Given the description of an element on the screen output the (x, y) to click on. 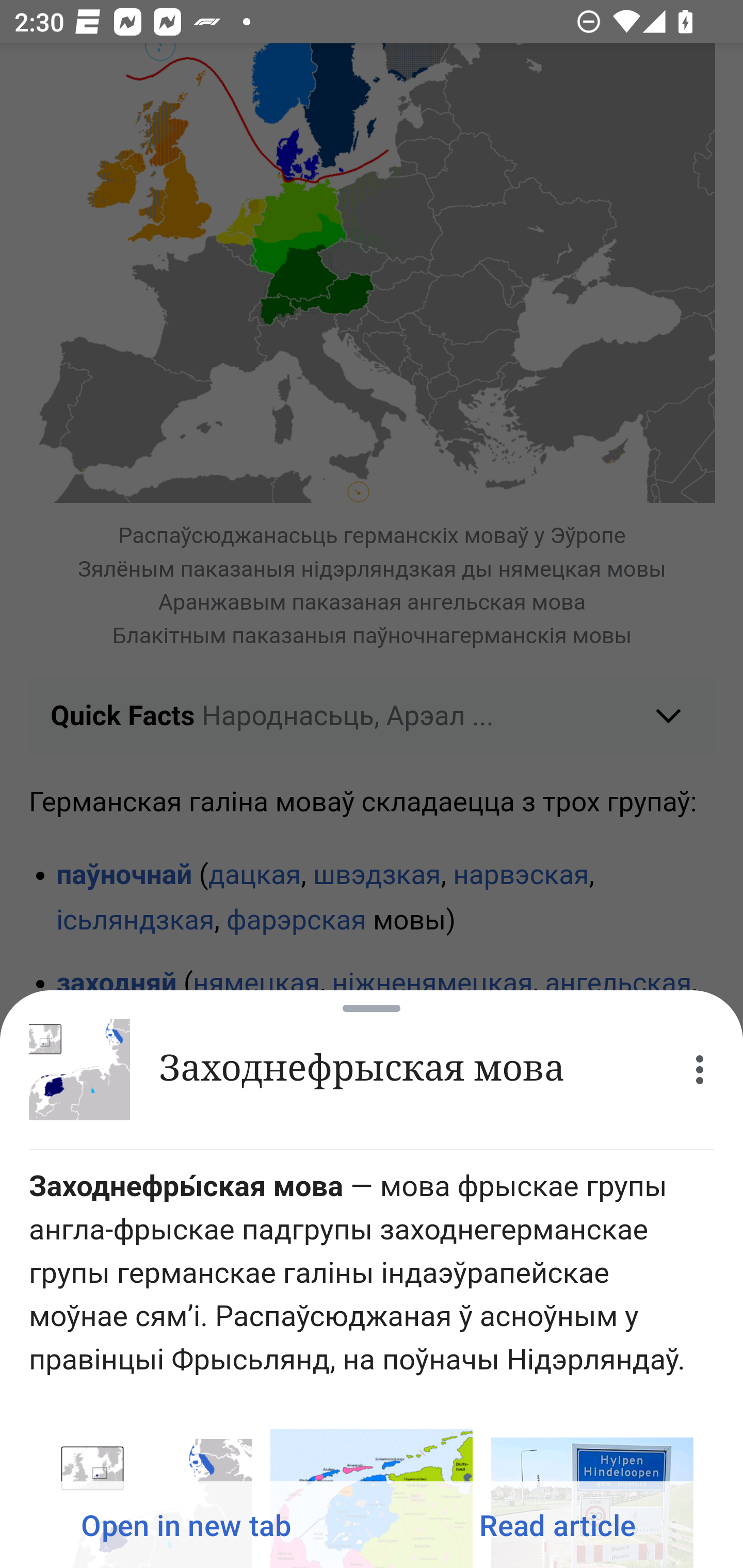
Заходнефрыская мова More options (371, 1069)
More options (699, 1070)
Open in new tab (185, 1524)
Read article (557, 1524)
